Given the description of an element on the screen output the (x, y) to click on. 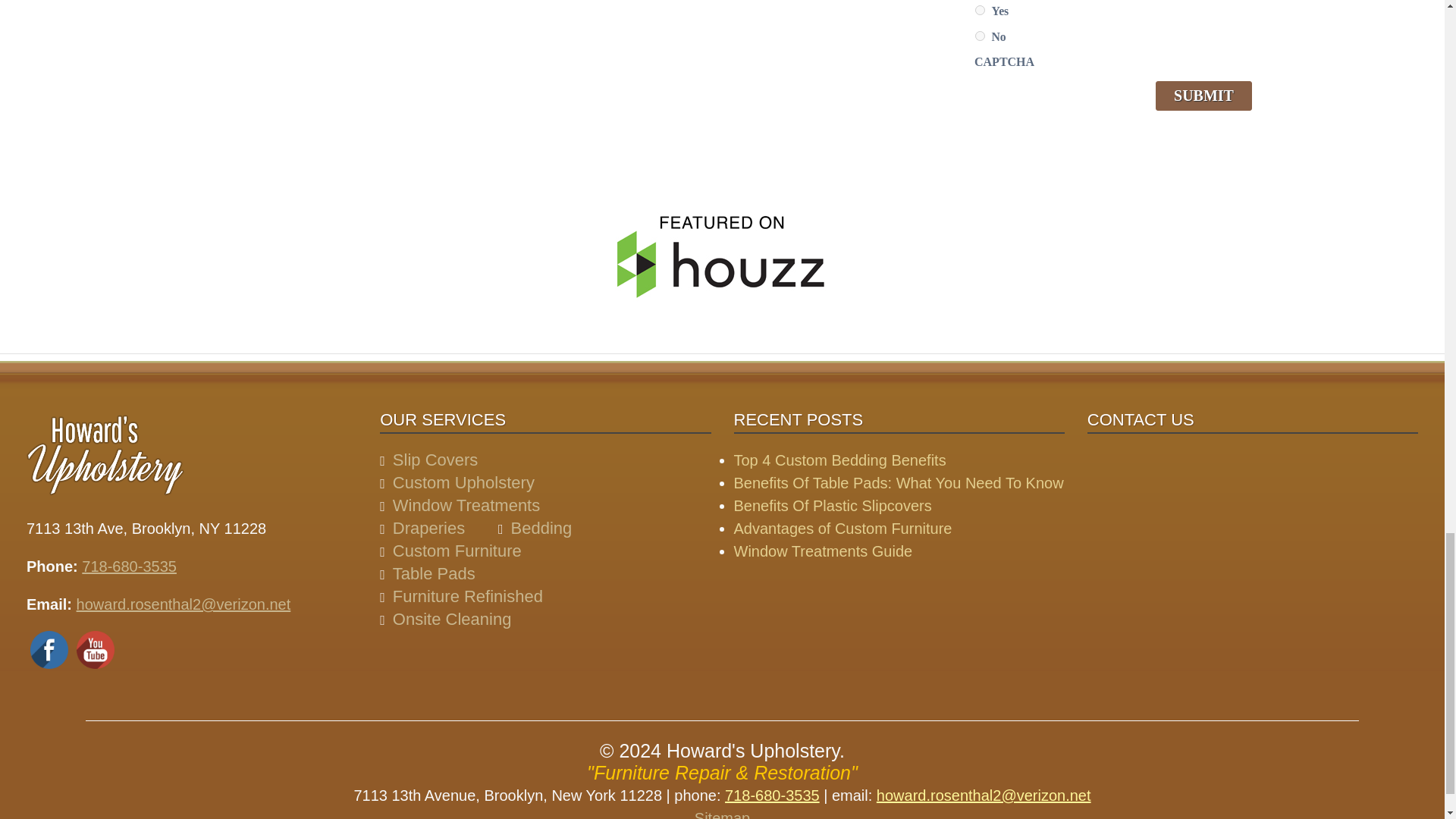
718-680-3535 (128, 565)
Table Pads (434, 573)
Custom Upholstery (463, 482)
No (980, 35)
Draperies (428, 527)
Bedding (541, 527)
Submit (1204, 95)
Onsite Cleaning (452, 618)
Window Treatments (466, 505)
Submit (1204, 95)
